Given the description of an element on the screen output the (x, y) to click on. 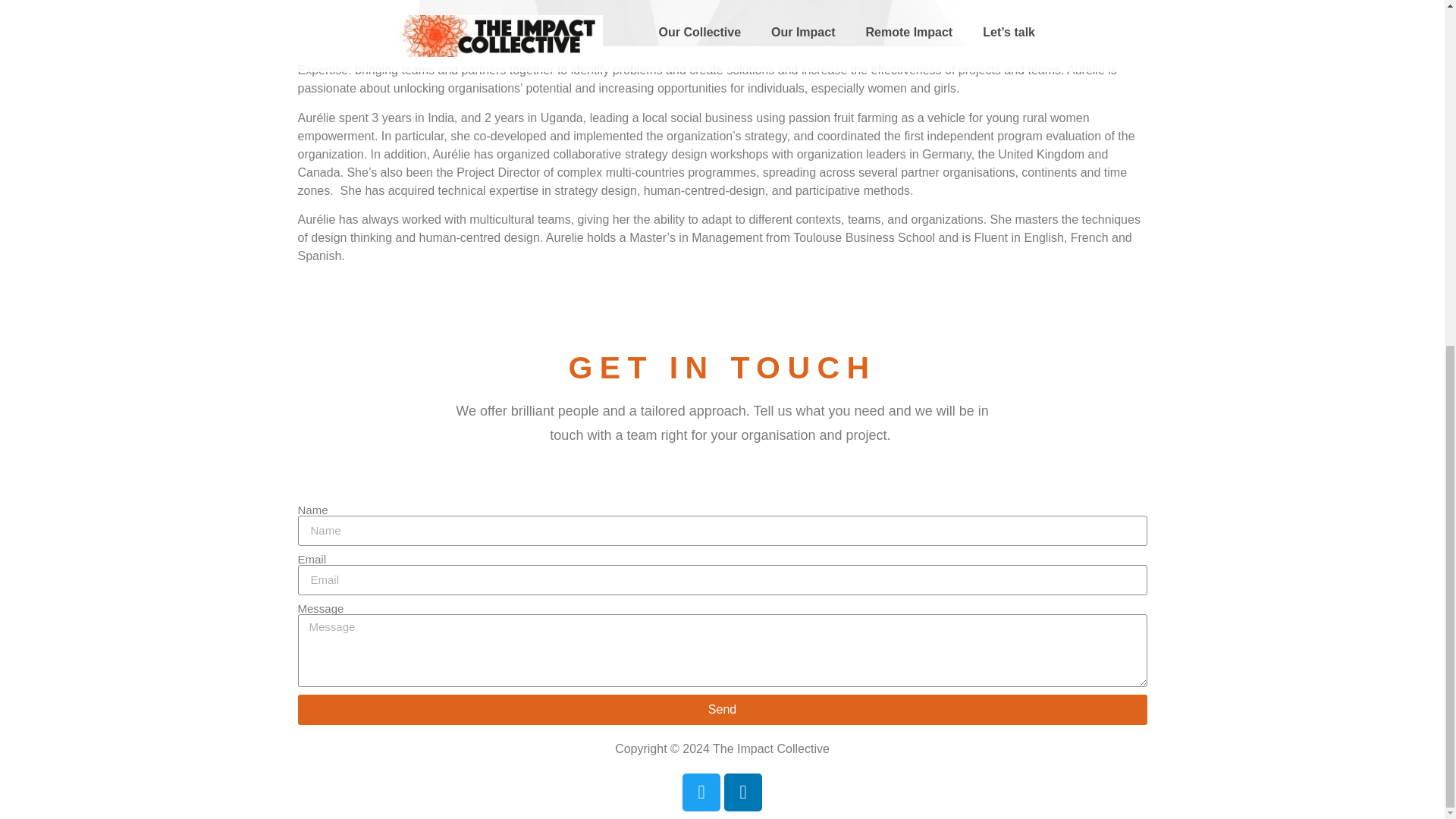
Send (722, 709)
